Given the description of an element on the screen output the (x, y) to click on. 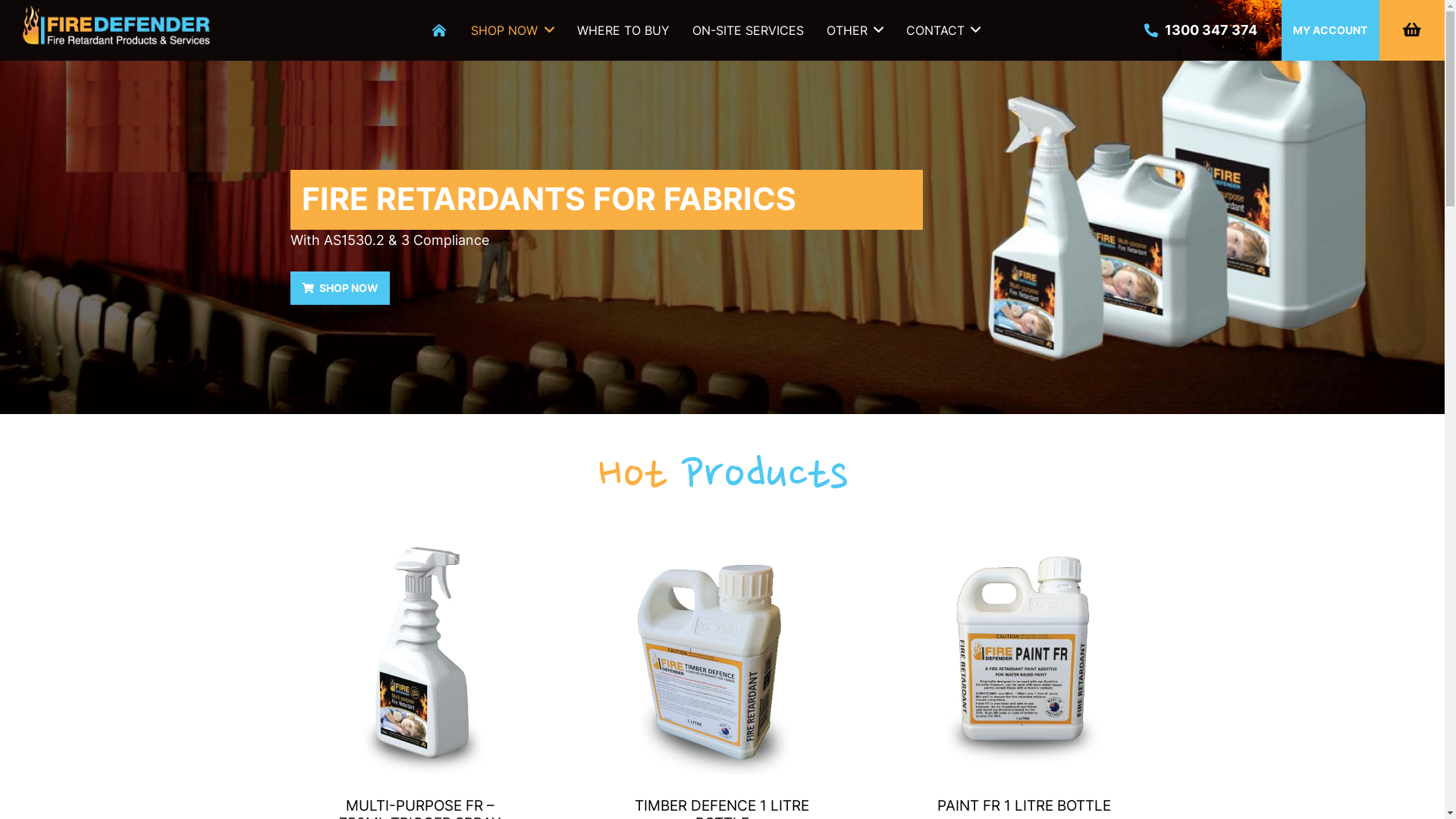
1300 347 374 Element type: text (1200, 30)
SHOP NOW Element type: text (339, 288)
OTHER Element type: text (854, 30)
WHERE TO BUY Element type: text (622, 30)
CONTACT Element type: text (942, 30)
MY ACCOUNT Element type: text (1330, 30)
SHOP NOW Element type: text (511, 30)
PAINT FR 1 LITRE BOTTLE Element type: text (1023, 805)
ON-SITE SERVICES Element type: text (747, 30)
